Given the description of an element on the screen output the (x, y) to click on. 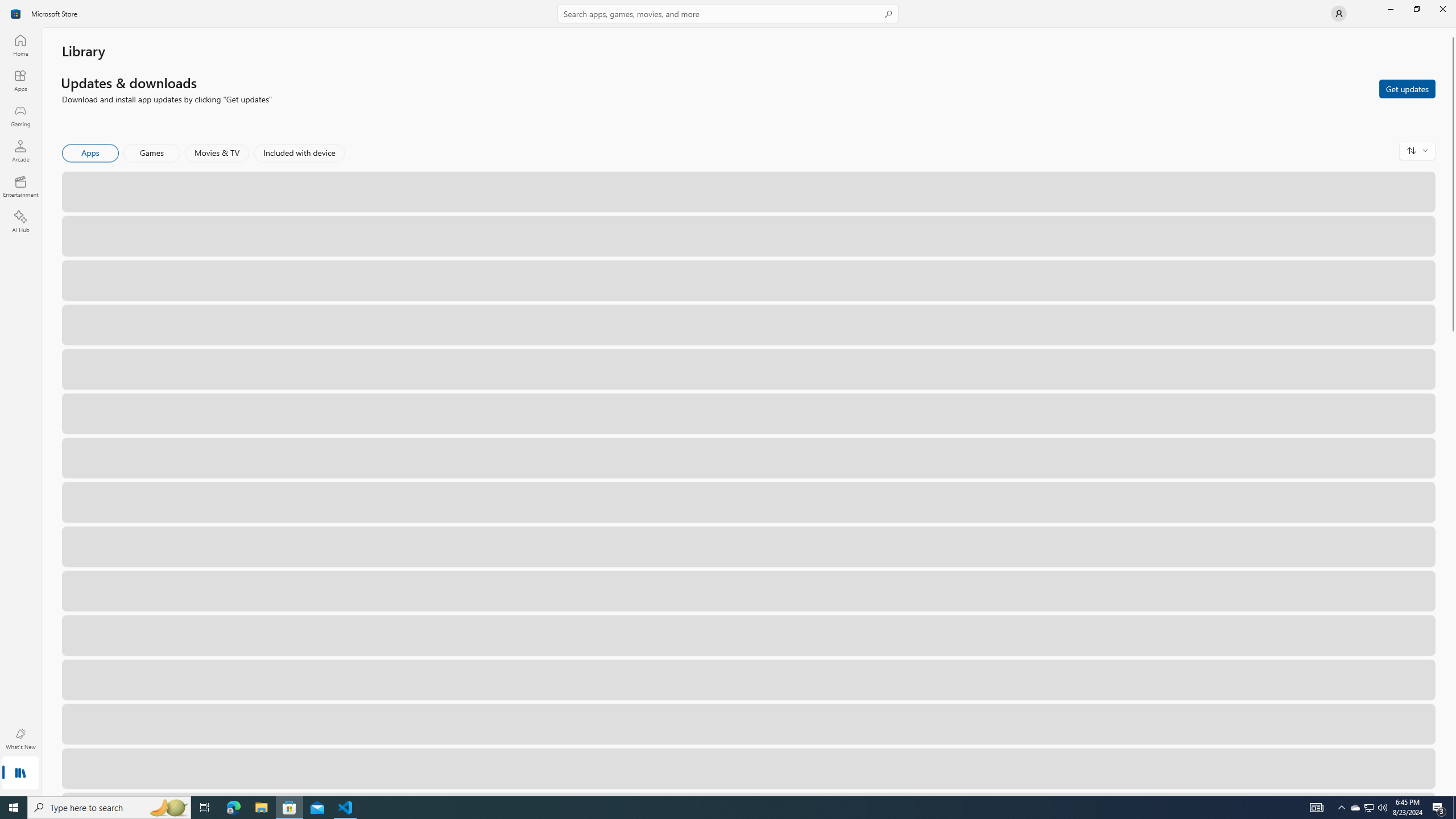
Included with device (299, 153)
More options (1419, 768)
Entertainment (20, 185)
Minimize Microsoft Store (1390, 9)
AI Hub (20, 221)
AutomationID: NavigationControl (728, 398)
Open (1366, 768)
Library (20, 773)
